Given the description of an element on the screen output the (x, y) to click on. 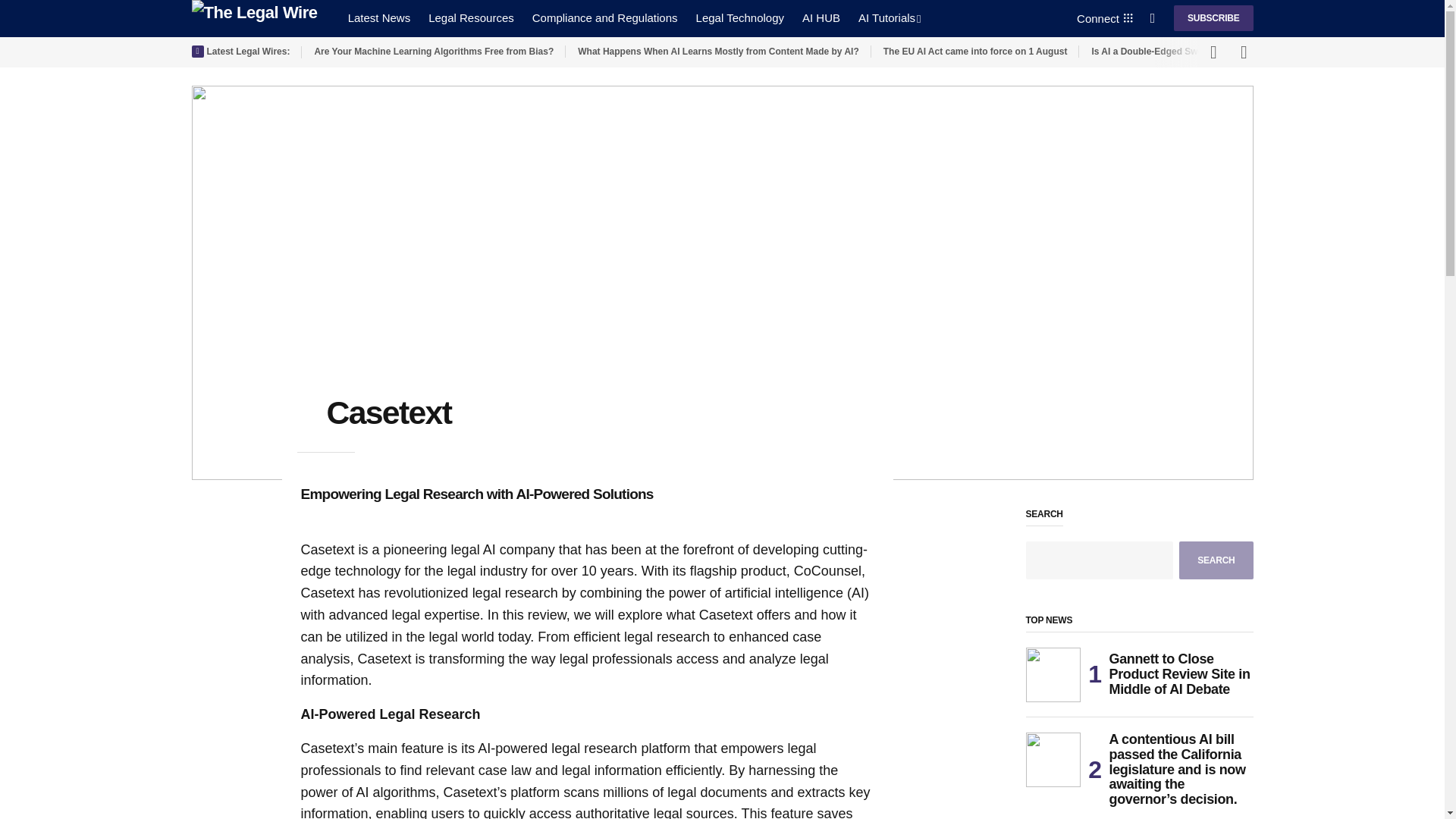
Legal Resources (470, 18)
Legal Technology (740, 18)
Latest News (379, 18)
AI Tutorials (889, 18)
AI HUB (820, 18)
Compliance and Regulations (604, 18)
